Given the description of an element on the screen output the (x, y) to click on. 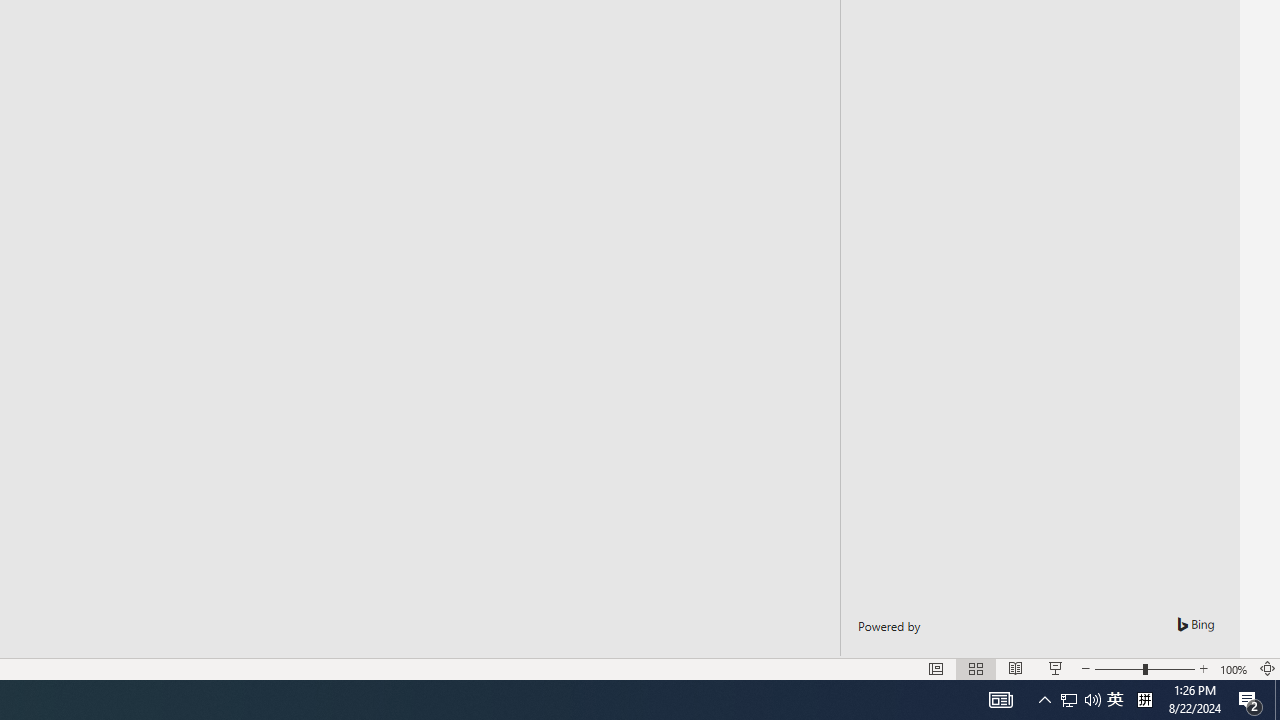
Zoom 100% (1234, 668)
